Given the description of an element on the screen output the (x, y) to click on. 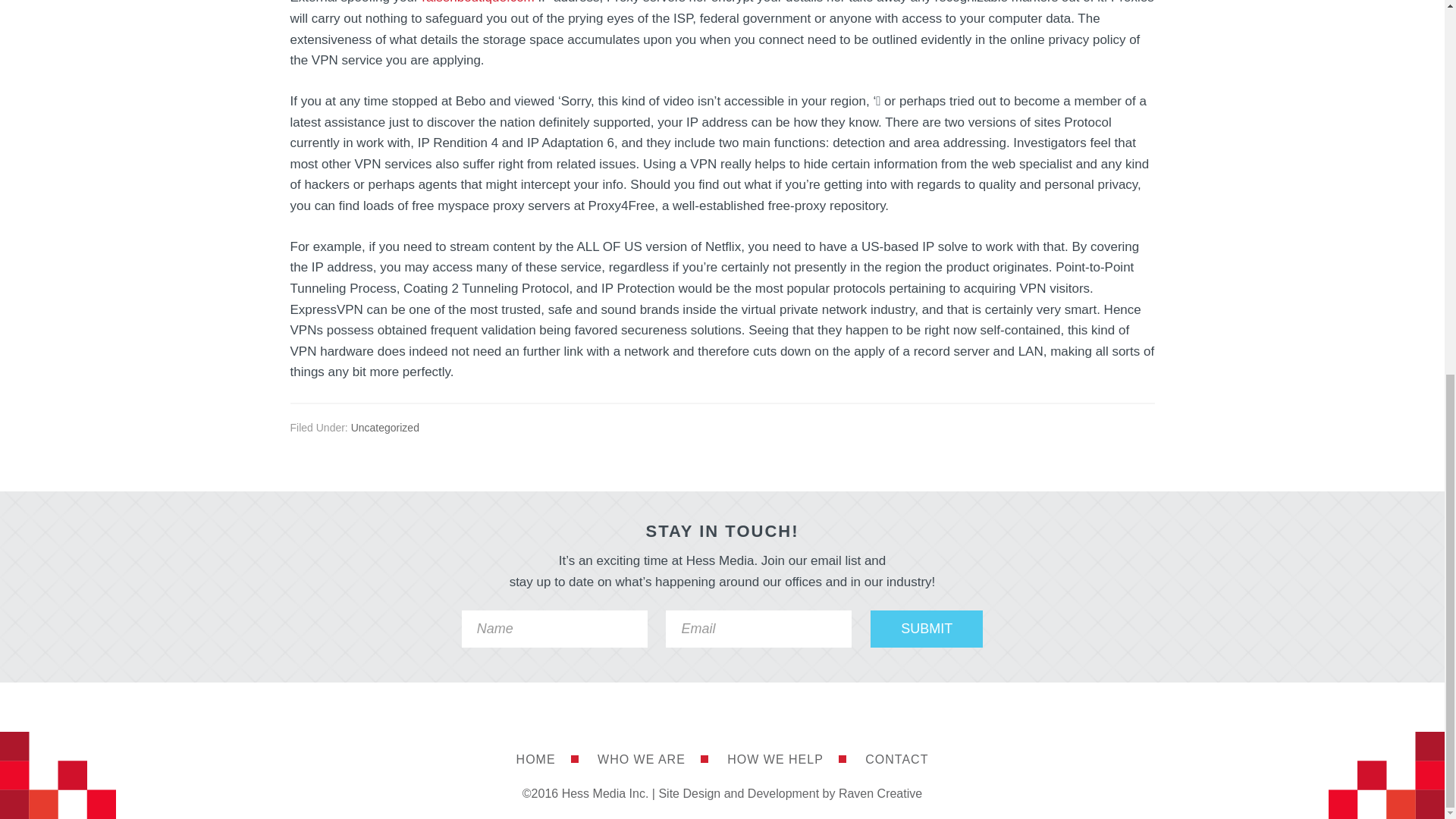
HOW WE HELP (785, 760)
raisenboutique.com (478, 2)
Submit (926, 628)
Site Design and Development by Raven Creative (789, 793)
WHO WE ARE (651, 760)
HOME (547, 760)
Submit (926, 628)
Uncategorized (384, 427)
CONTACT (896, 760)
